Given the description of an element on the screen output the (x, y) to click on. 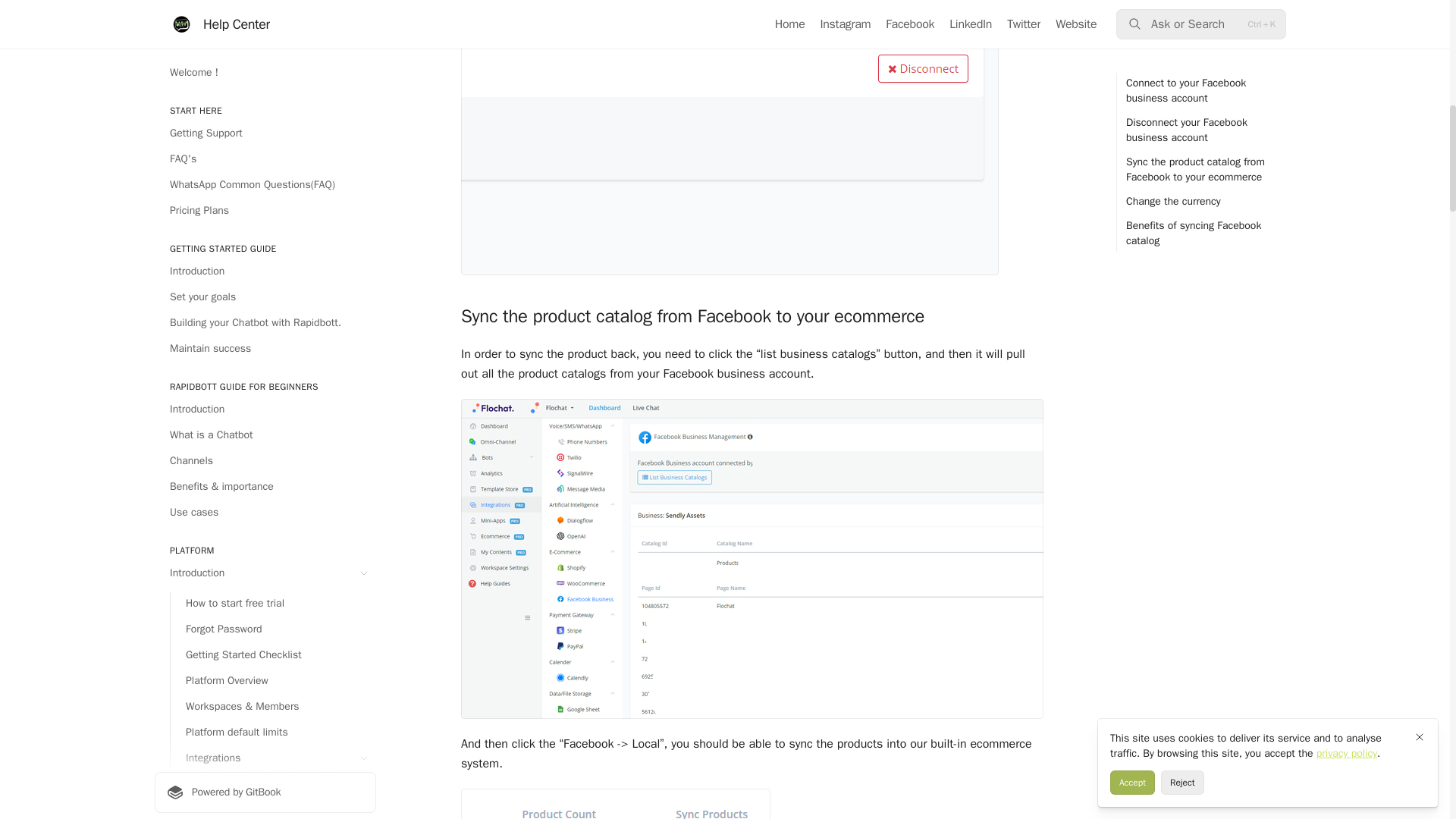
Slack (280, 124)
Shopify (280, 46)
Google Sheets (280, 150)
Cloudinary (280, 21)
Calendly (280, 98)
Facebook Business (280, 72)
PayPal (280, 3)
Data Store (280, 175)
